Given the description of an element on the screen output the (x, y) to click on. 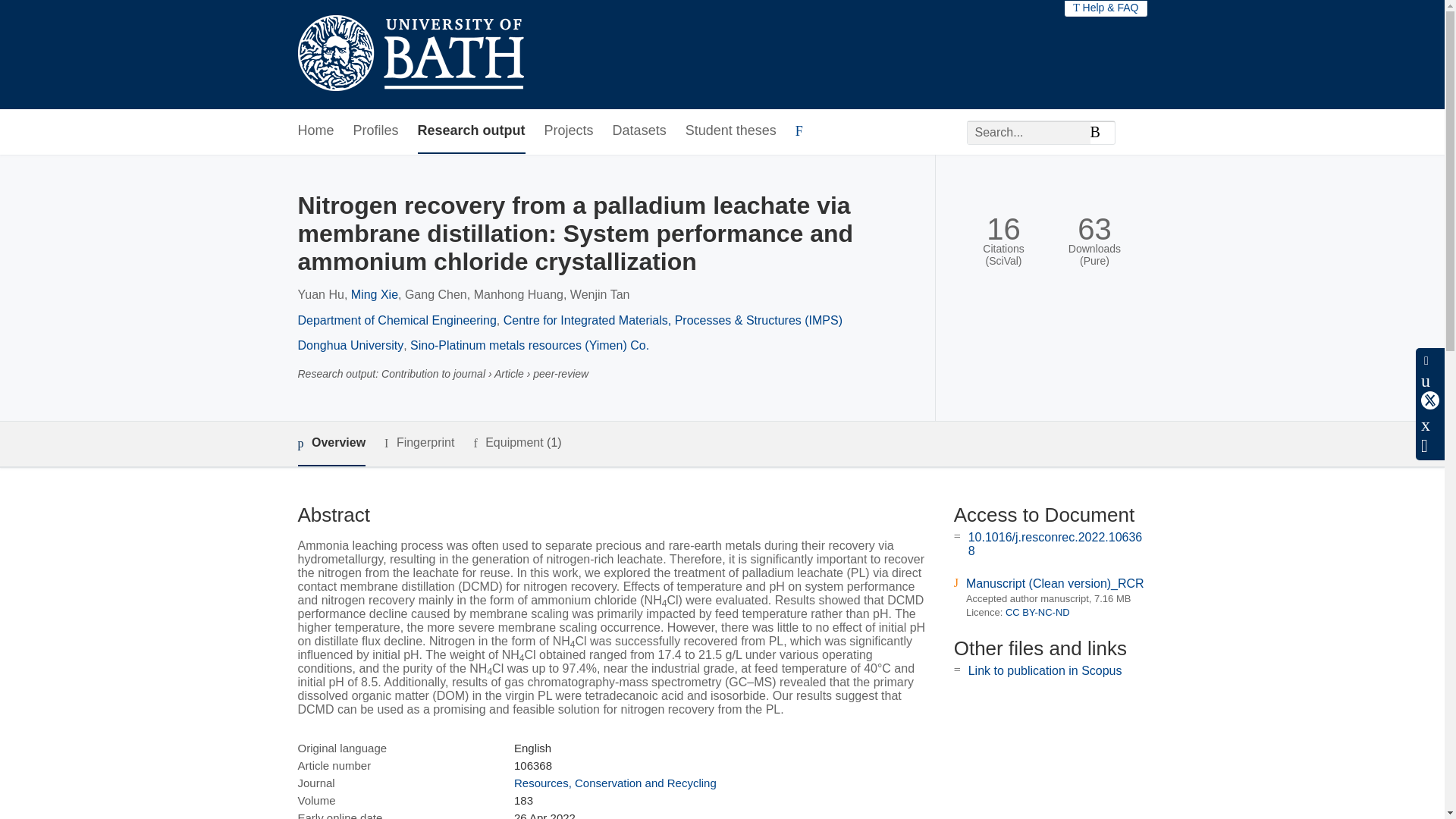
CC BY-NC-ND (1038, 612)
Research output (471, 130)
Projects (569, 130)
Donghua University (350, 345)
Student theses (730, 130)
Resources, Conservation and Recycling (614, 782)
Profiles (375, 130)
the University of Bath's research portal Home (409, 54)
Link to publication in Scopus (1045, 670)
